Given the description of an element on the screen output the (x, y) to click on. 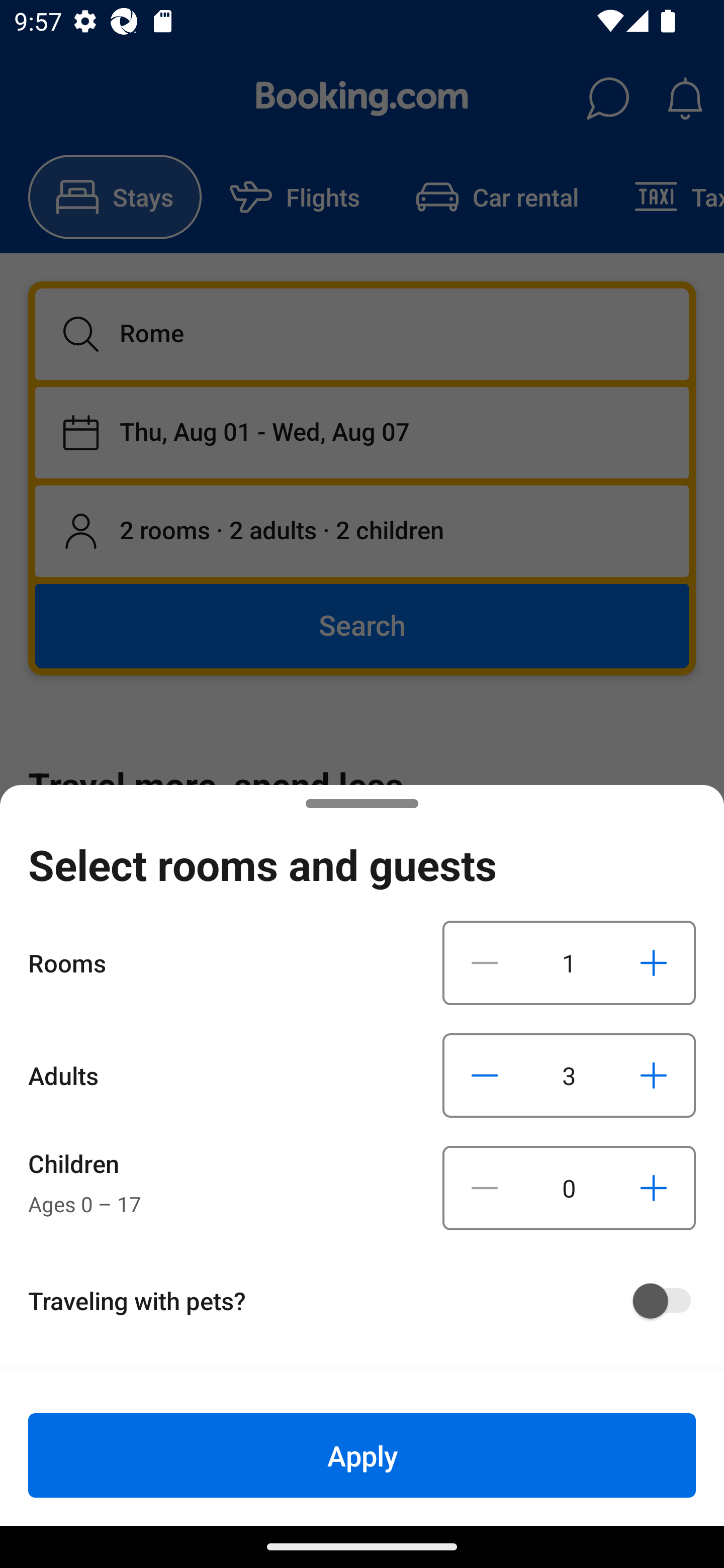
Decrease (484, 962)
Increase (653, 962)
Decrease (484, 1075)
Increase (653, 1075)
Decrease (484, 1188)
Increase (653, 1188)
Traveling with pets? (369, 1300)
Apply (361, 1454)
